Given the description of an element on the screen output the (x, y) to click on. 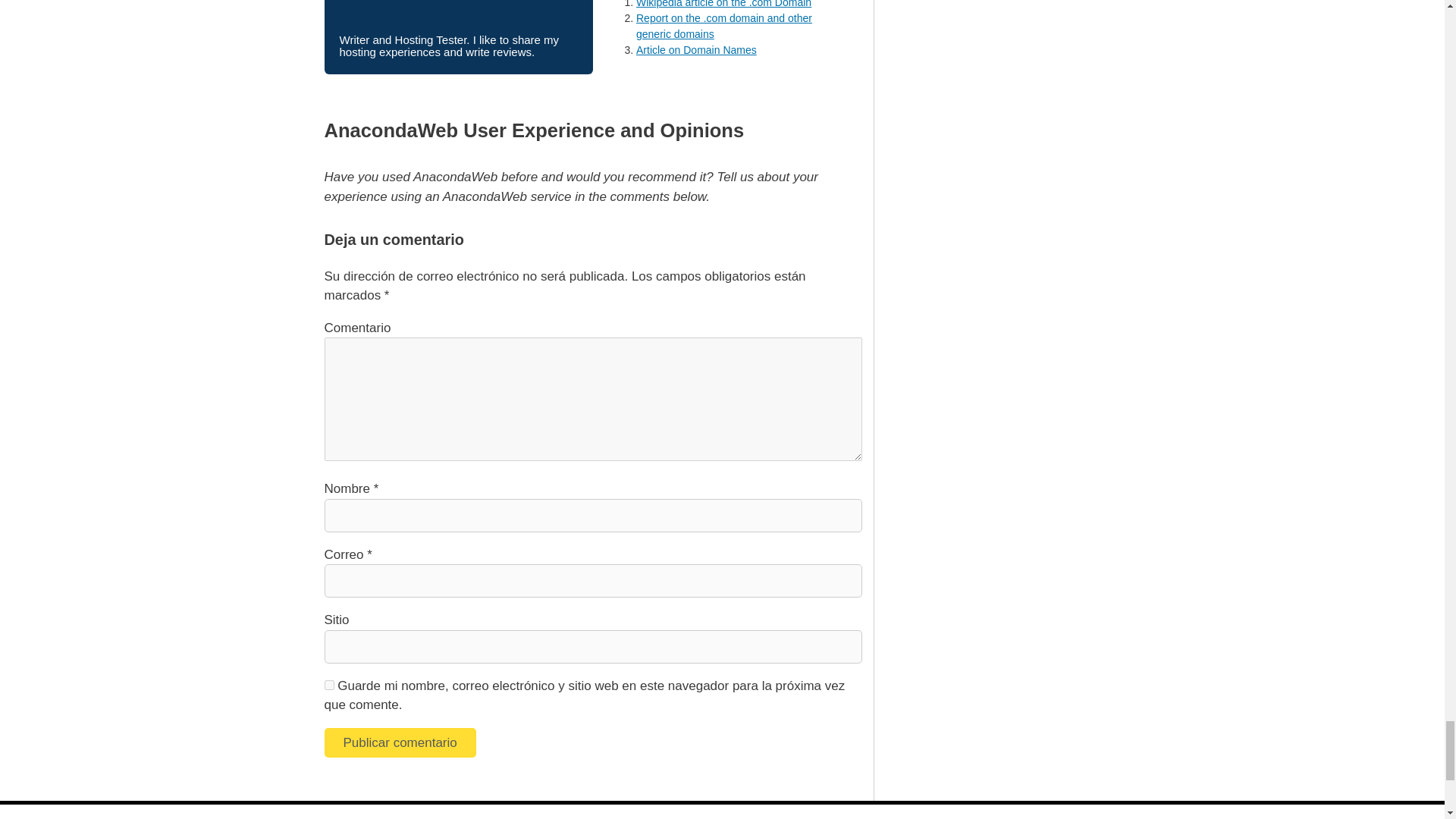
Publicar comentario (400, 743)
yes (329, 685)
